Given the description of an element on the screen output the (x, y) to click on. 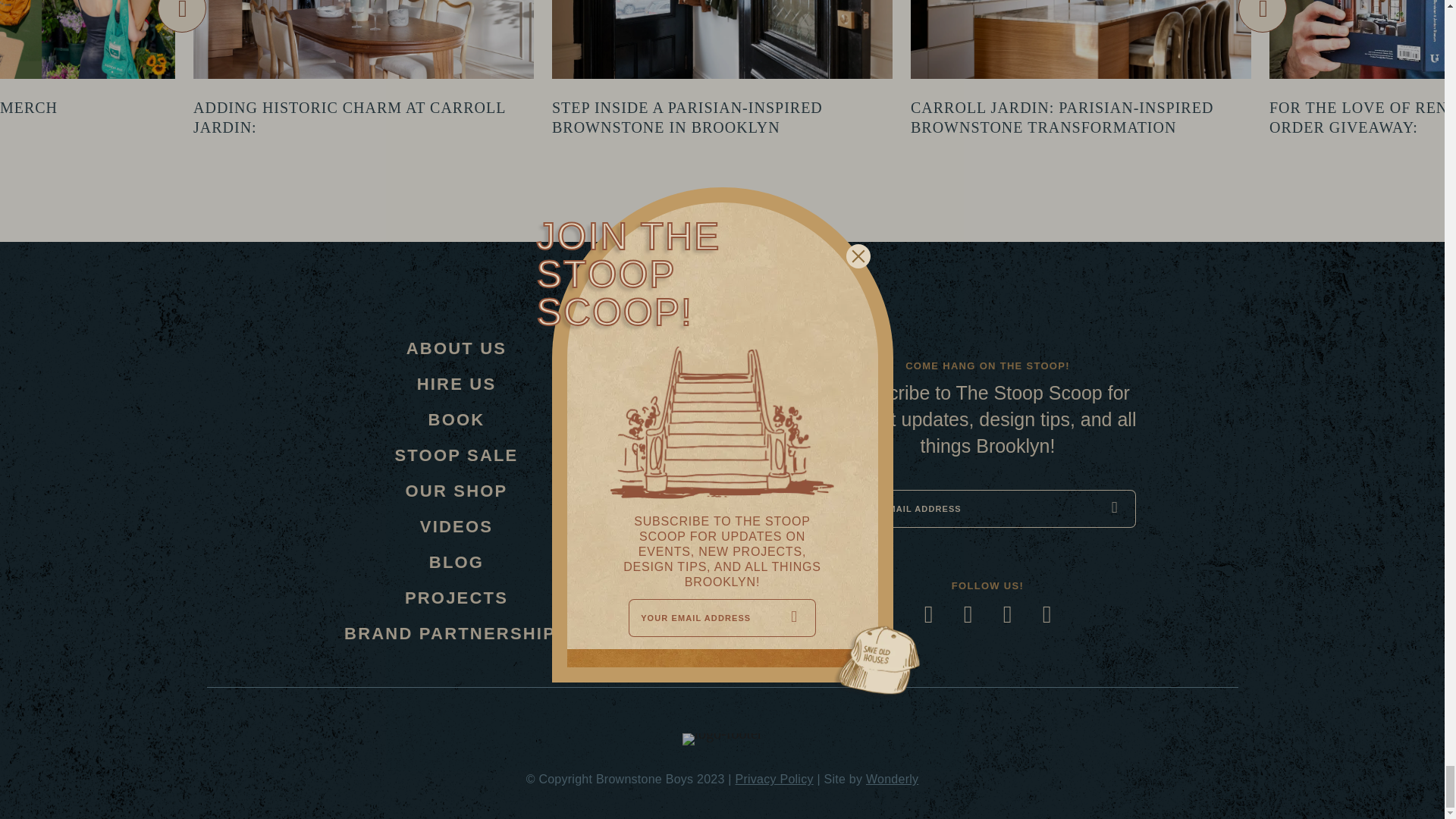
Brownstone Boys Merch (29, 107)
Adding Historic Charm at Carroll Jardin: (349, 117)
